Given the description of an element on the screen output the (x, y) to click on. 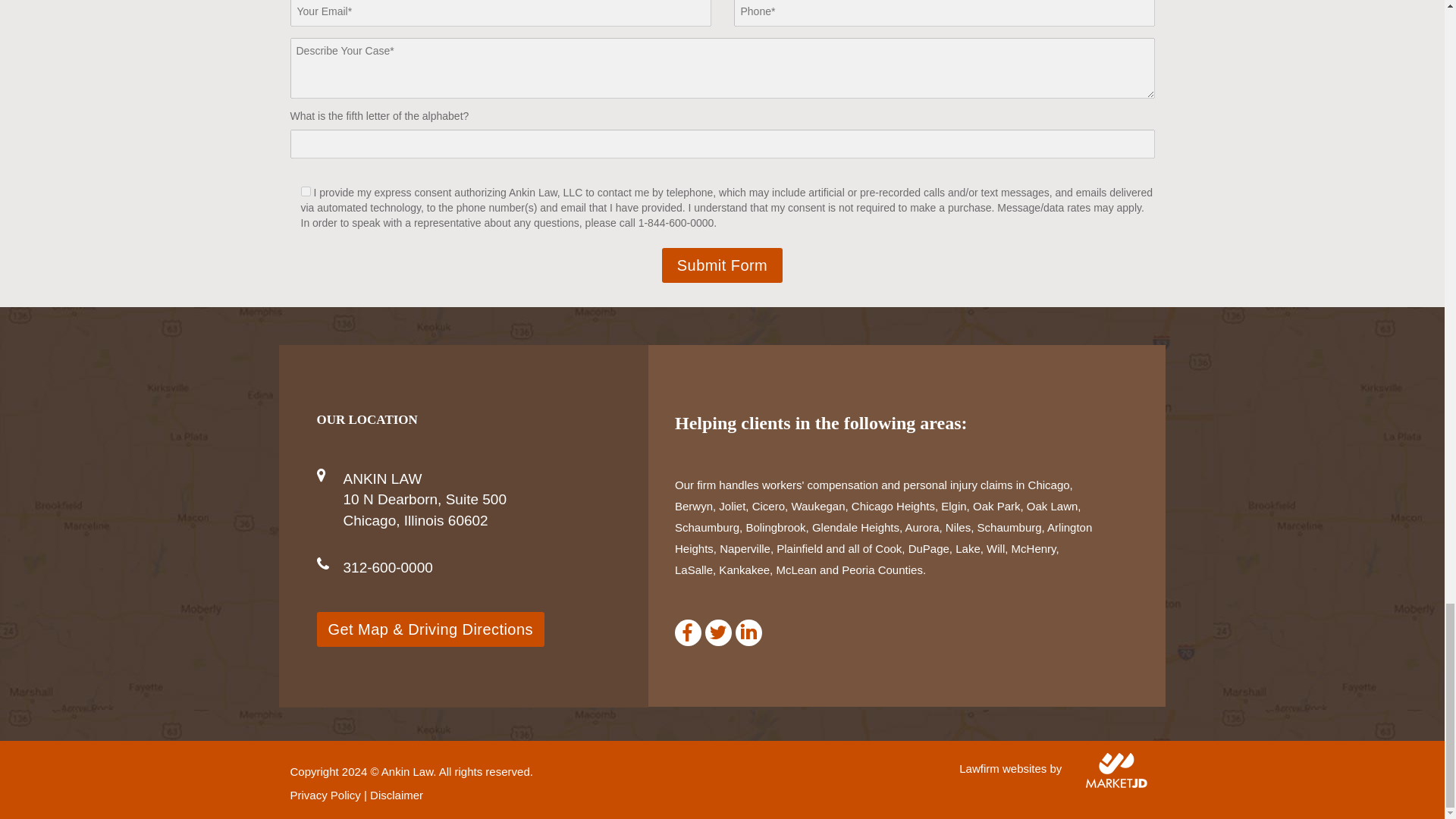
Submit Form (722, 265)
